Given the description of an element on the screen output the (x, y) to click on. 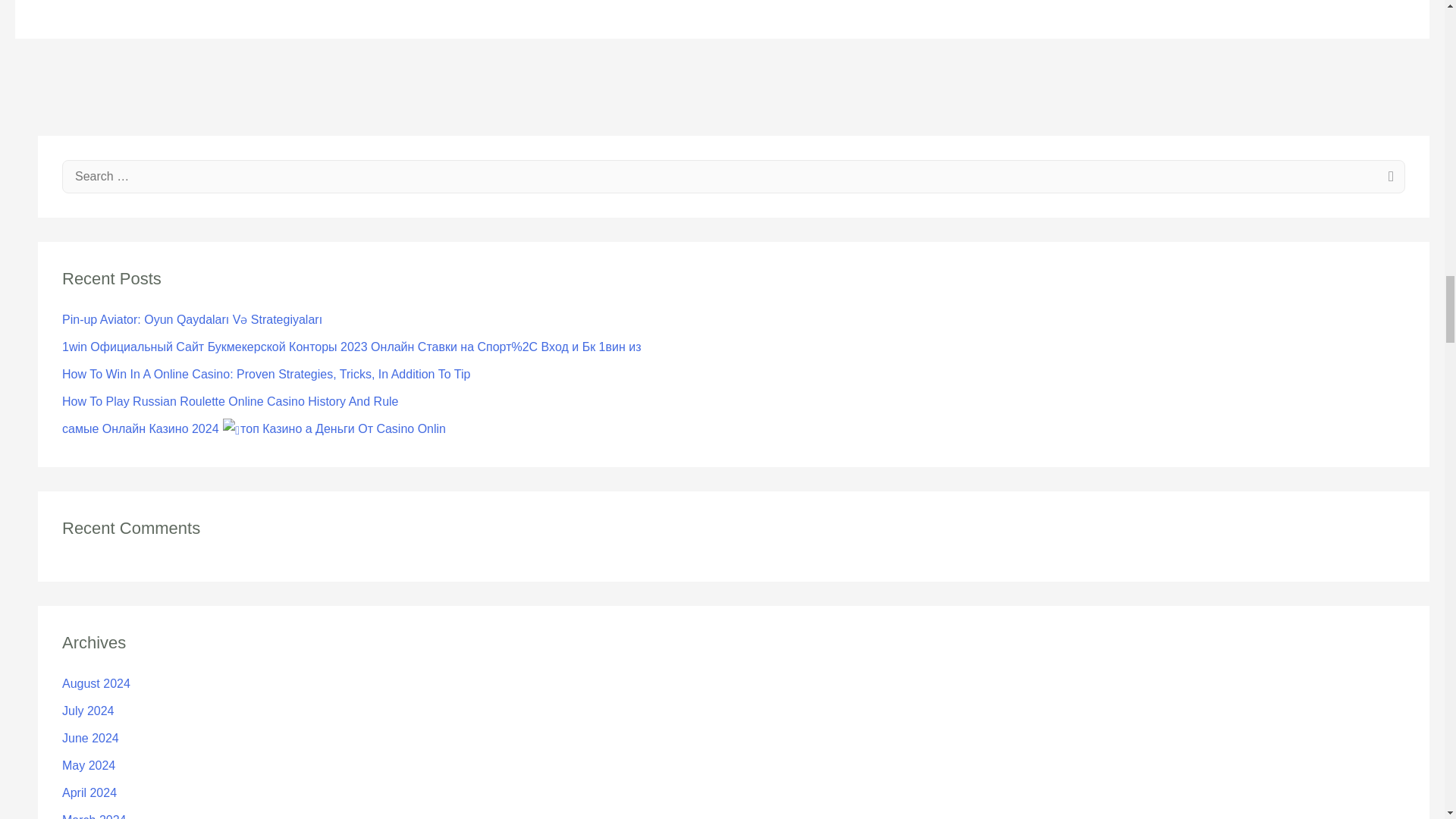
May 2024 (88, 765)
April 2024 (89, 792)
August 2024 (96, 683)
March 2024 (94, 816)
July 2024 (88, 710)
How To Play Russian Roulette Online Casino History And Rule (229, 400)
June 2024 (90, 738)
